Given the description of an element on the screen output the (x, y) to click on. 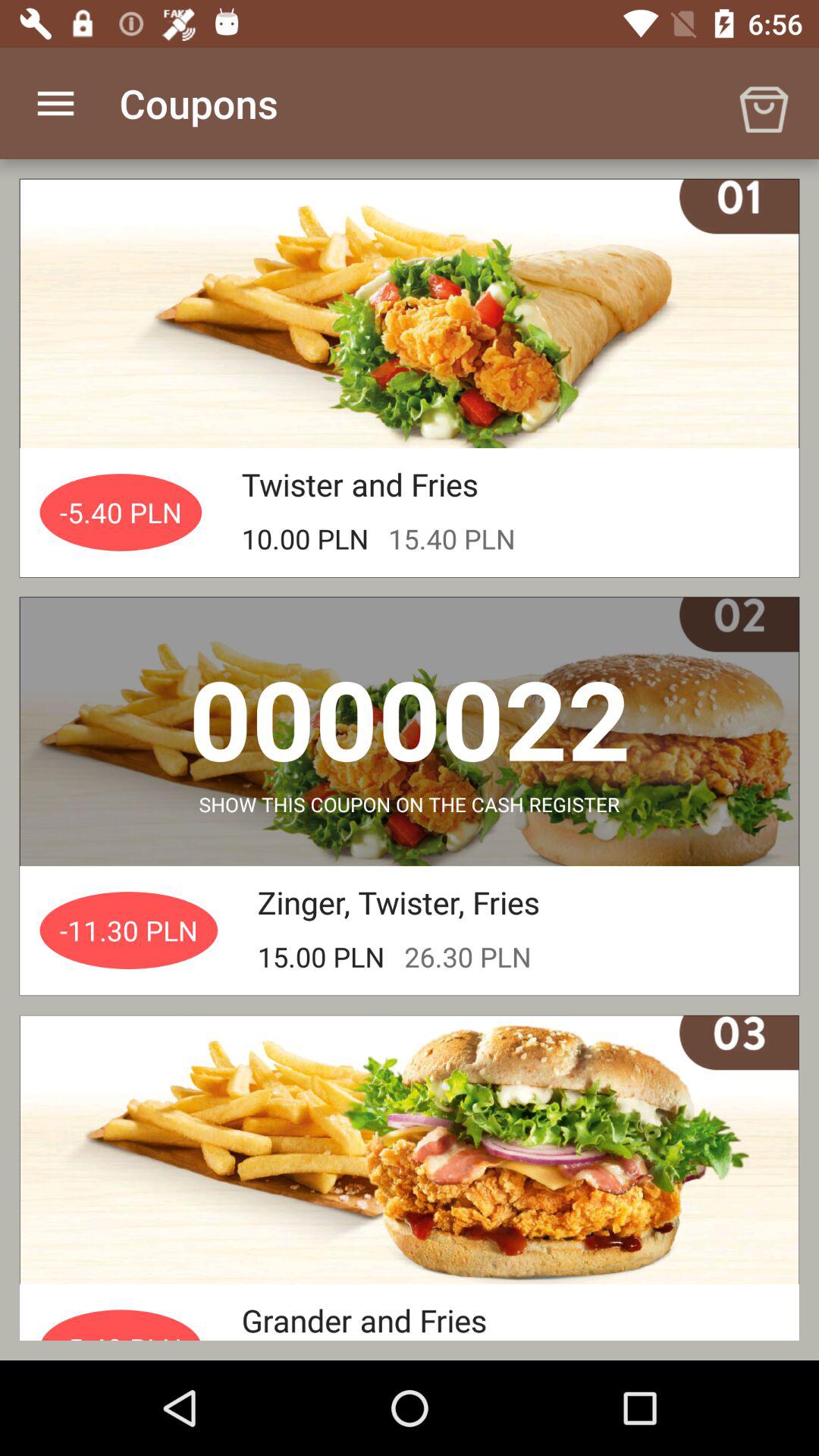
click the icon to the left of coupons app (55, 103)
